Given the description of an element on the screen output the (x, y) to click on. 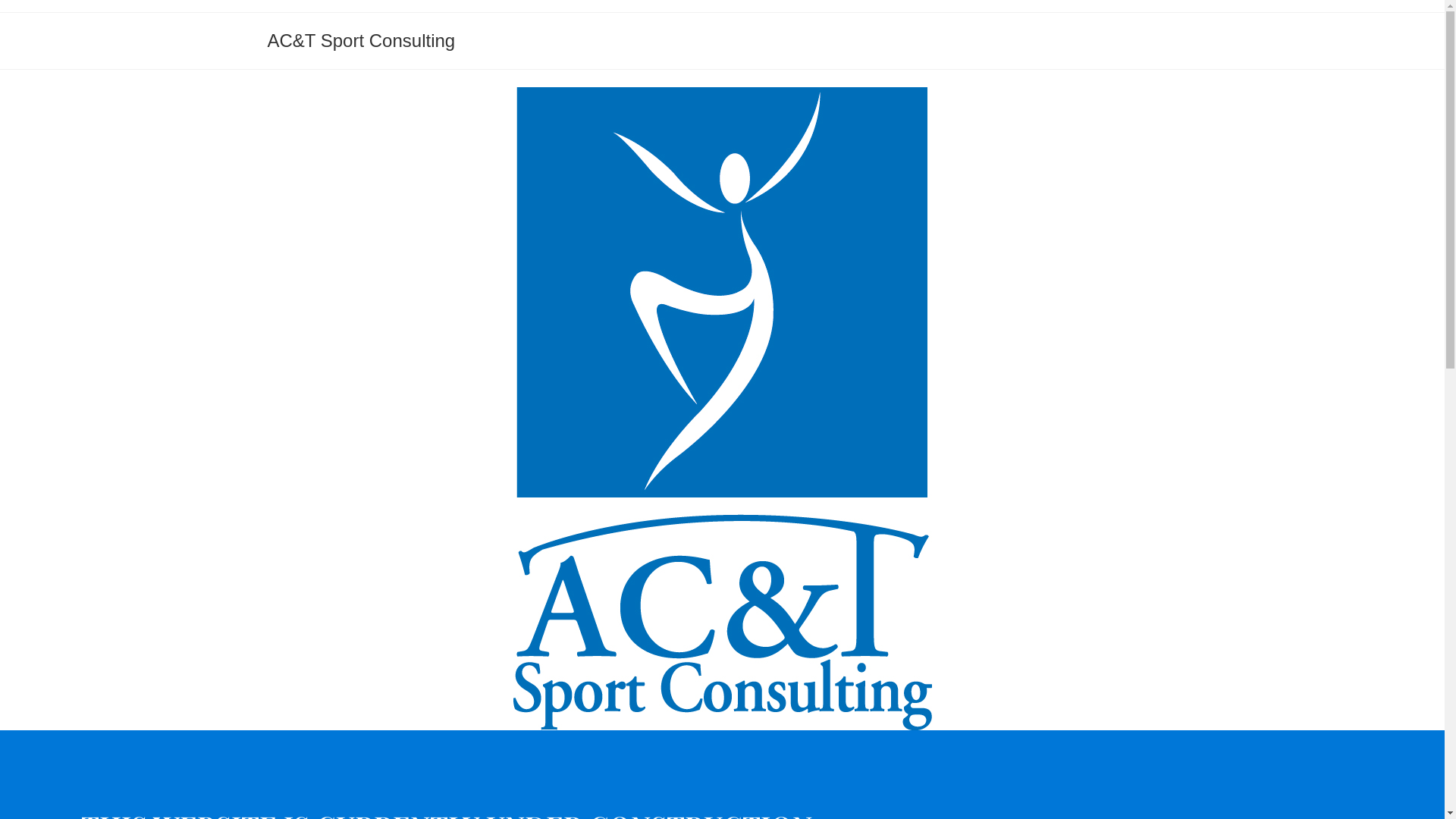
AC&T Sport Consulting Element type: text (360, 40)
